Given the description of an element on the screen output the (x, y) to click on. 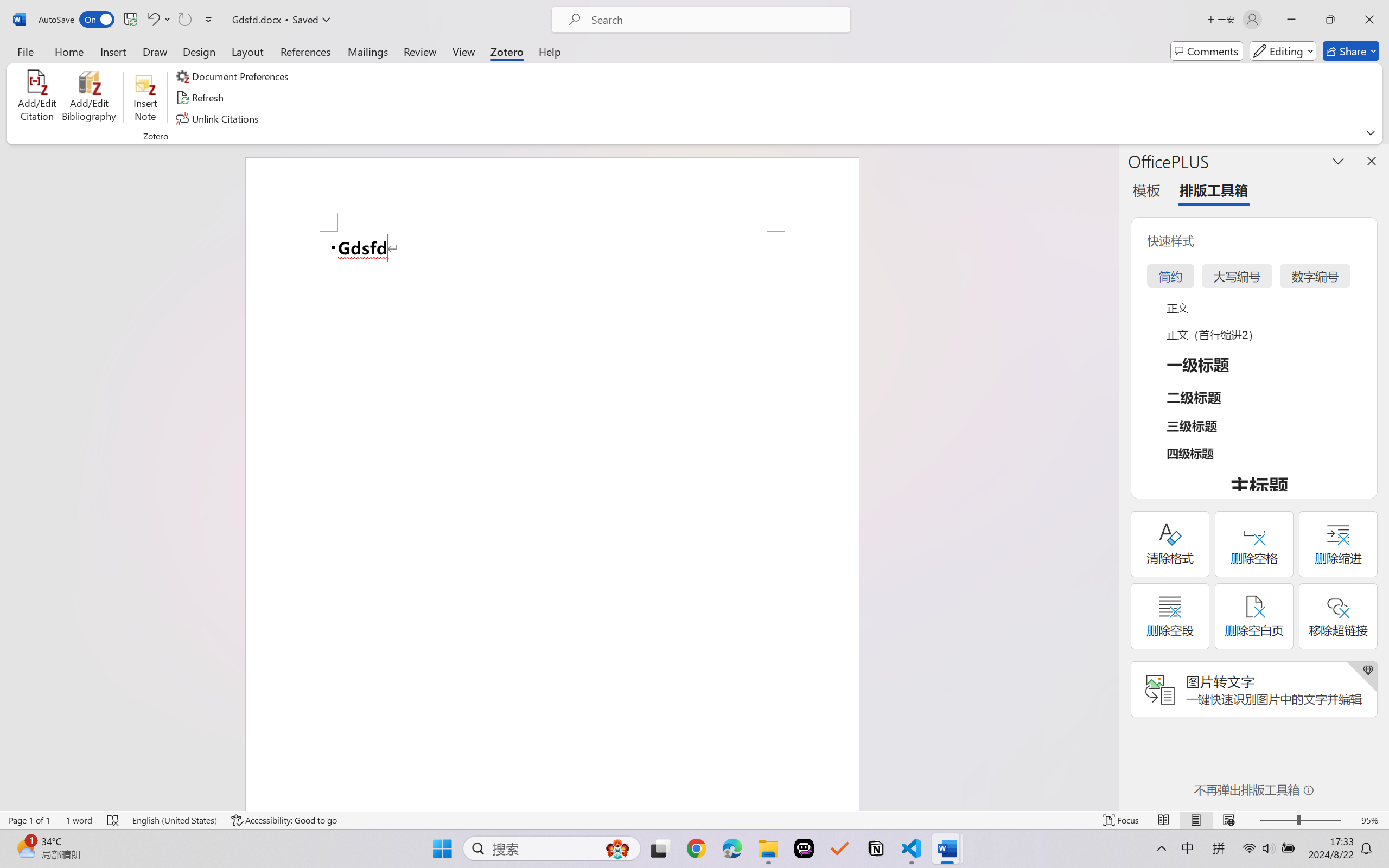
Undo <ApplyStyleToDoc>b__0 (152, 19)
Refresh (201, 97)
Add/Edit Citation (37, 97)
Unlink Citations (218, 118)
